Given the description of an element on the screen output the (x, y) to click on. 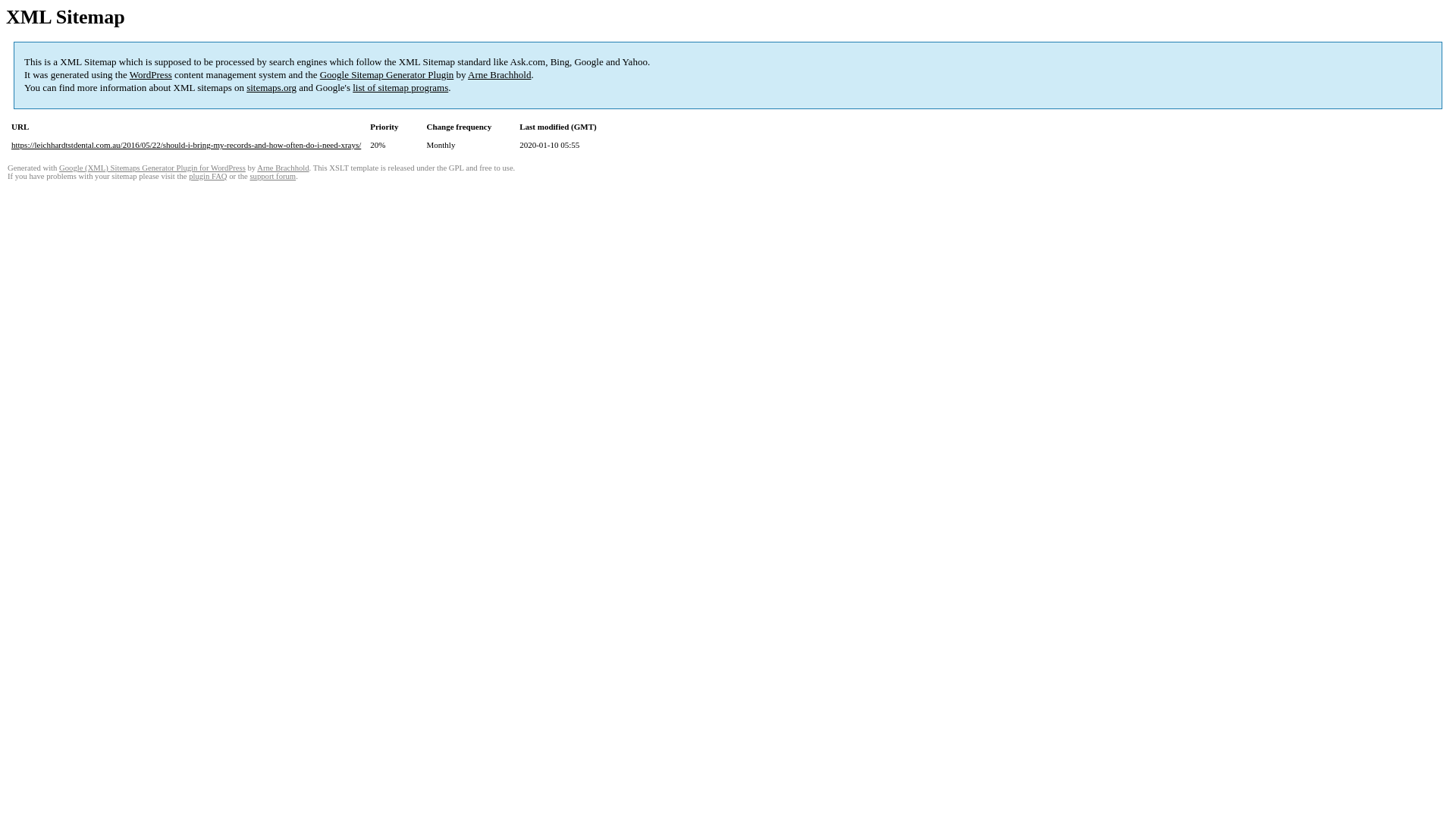
sitemaps.org Element type: text (271, 87)
Arne Brachhold Element type: text (498, 74)
Arne Brachhold Element type: text (282, 167)
Google Sitemap Generator Plugin Element type: text (387, 74)
plugin FAQ Element type: text (207, 176)
support forum Element type: text (272, 176)
Google (XML) Sitemaps Generator Plugin for WordPress Element type: text (152, 167)
WordPress Element type: text (150, 74)
list of sitemap programs Element type: text (400, 87)
